Given the description of an element on the screen output the (x, y) to click on. 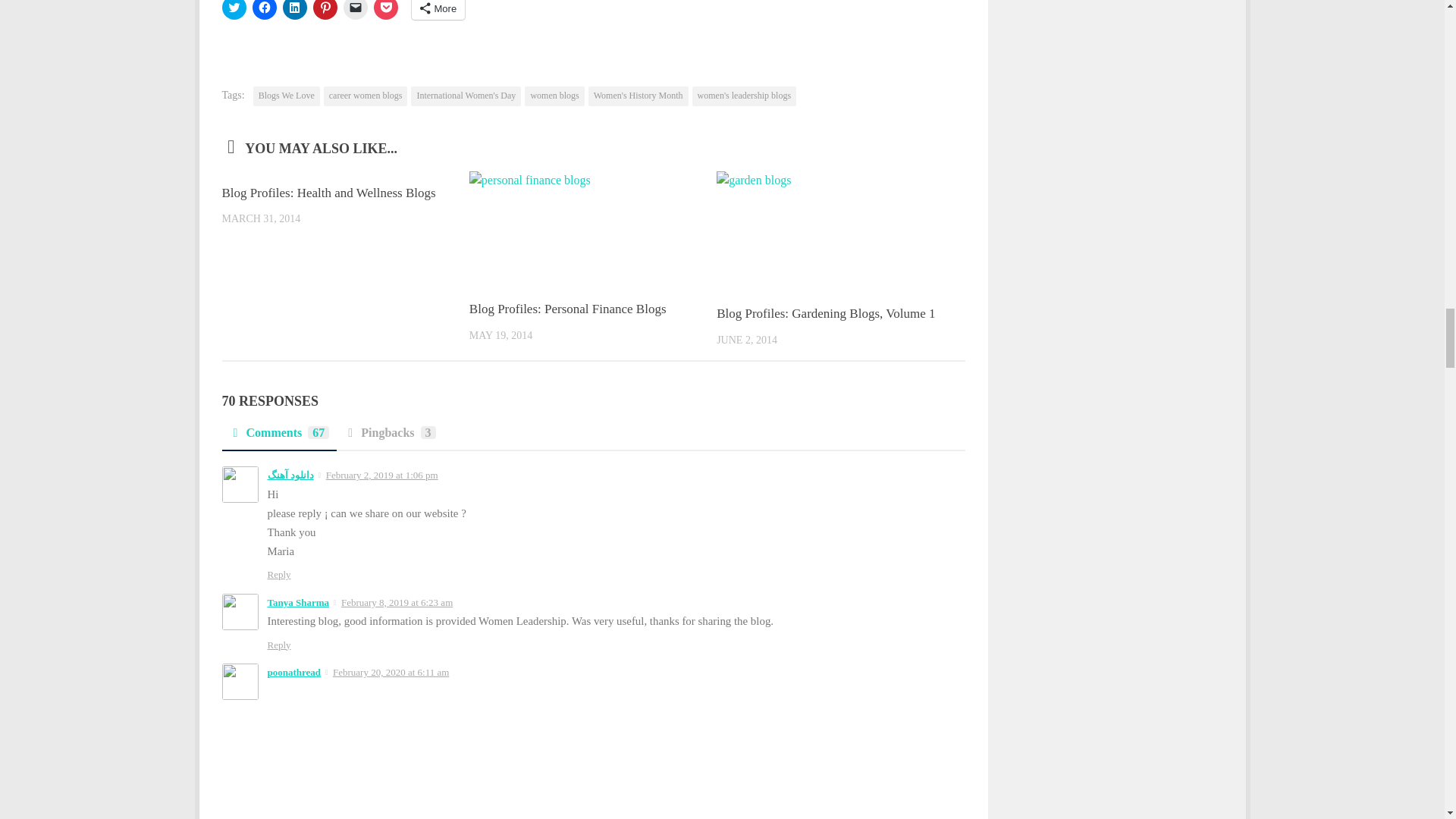
Click to share on Facebook (263, 9)
Click to share on Pocket (384, 9)
Click to share on LinkedIn (293, 9)
Click to share on Pinterest (324, 9)
Click to email a link to a friend (354, 9)
Click to share on Twitter (233, 9)
